Given the description of an element on the screen output the (x, y) to click on. 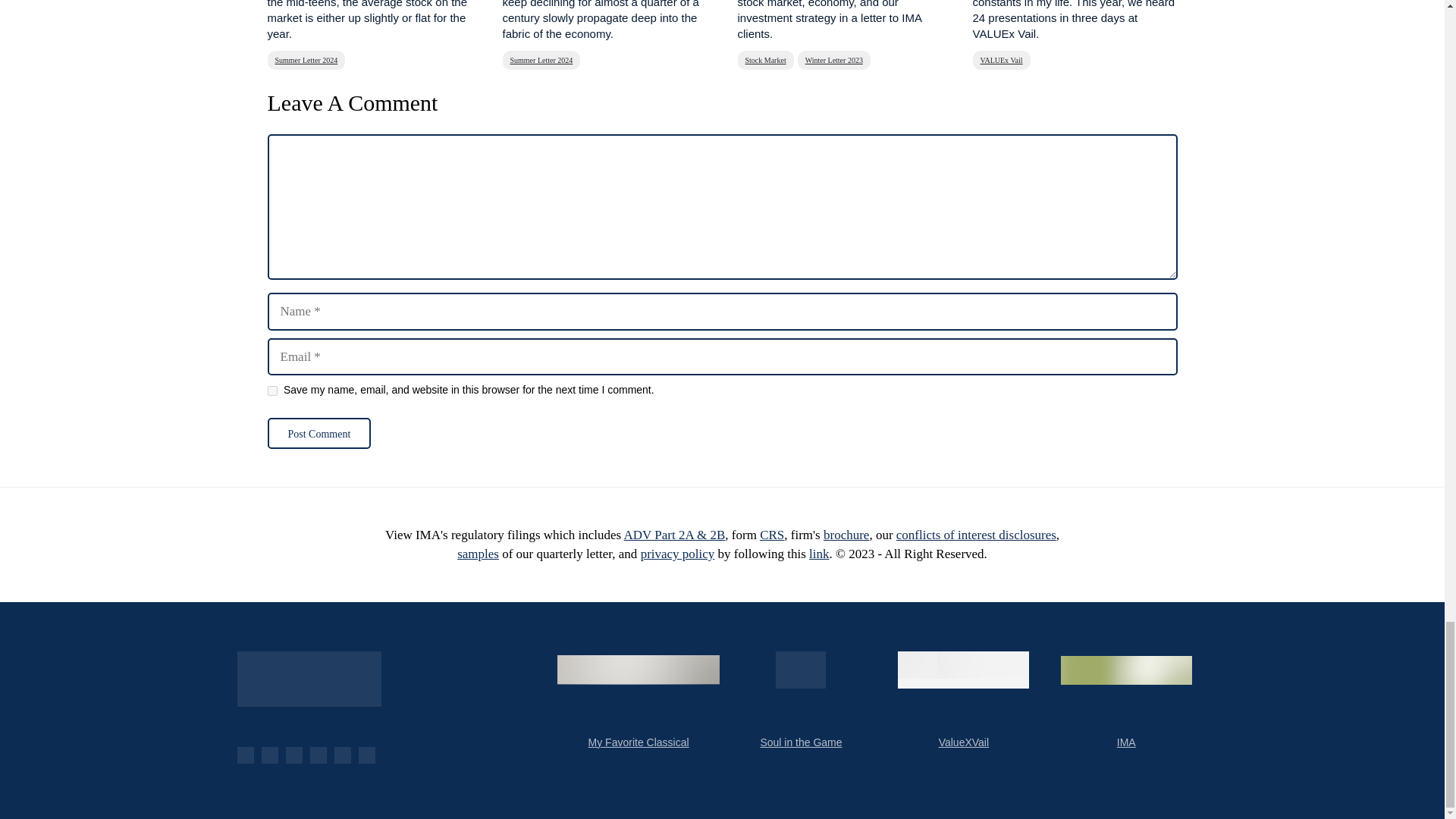
TiktokLogo (366, 754)
yes (271, 390)
YoutubeLogo (269, 754)
TwitterLogo (293, 754)
Post Comment (318, 432)
LinkedinLogo (317, 754)
Summer Letter 2024 (305, 59)
Summer Letter 2024 (540, 59)
The Intellectual Investor by Vitaliy Katsenelson (307, 678)
FacebookLogo (244, 754)
InstagramLogo (341, 754)
